Given the description of an element on the screen output the (x, y) to click on. 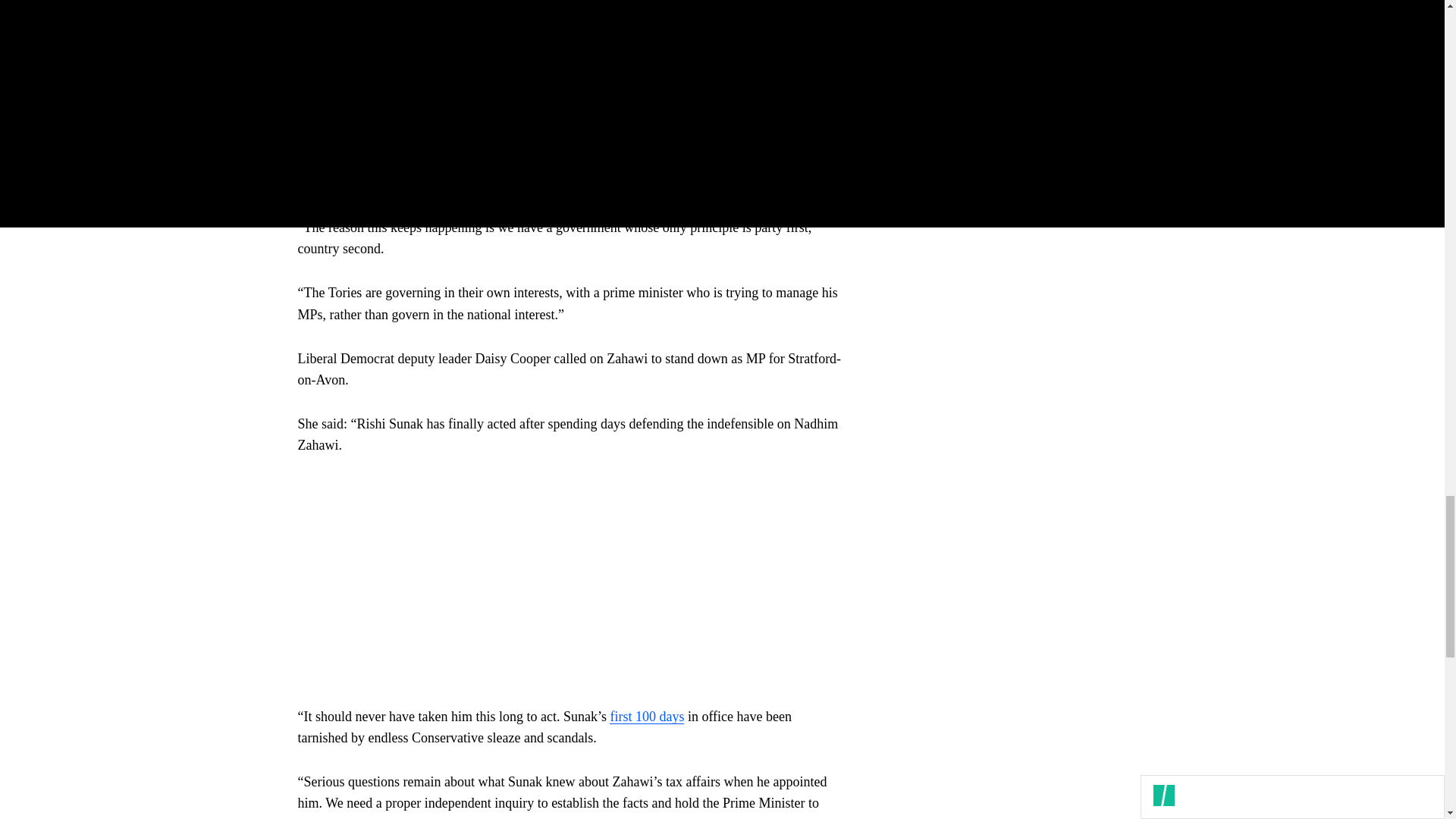
SIGN UP (1098, 109)
